Given the description of an element on the screen output the (x, y) to click on. 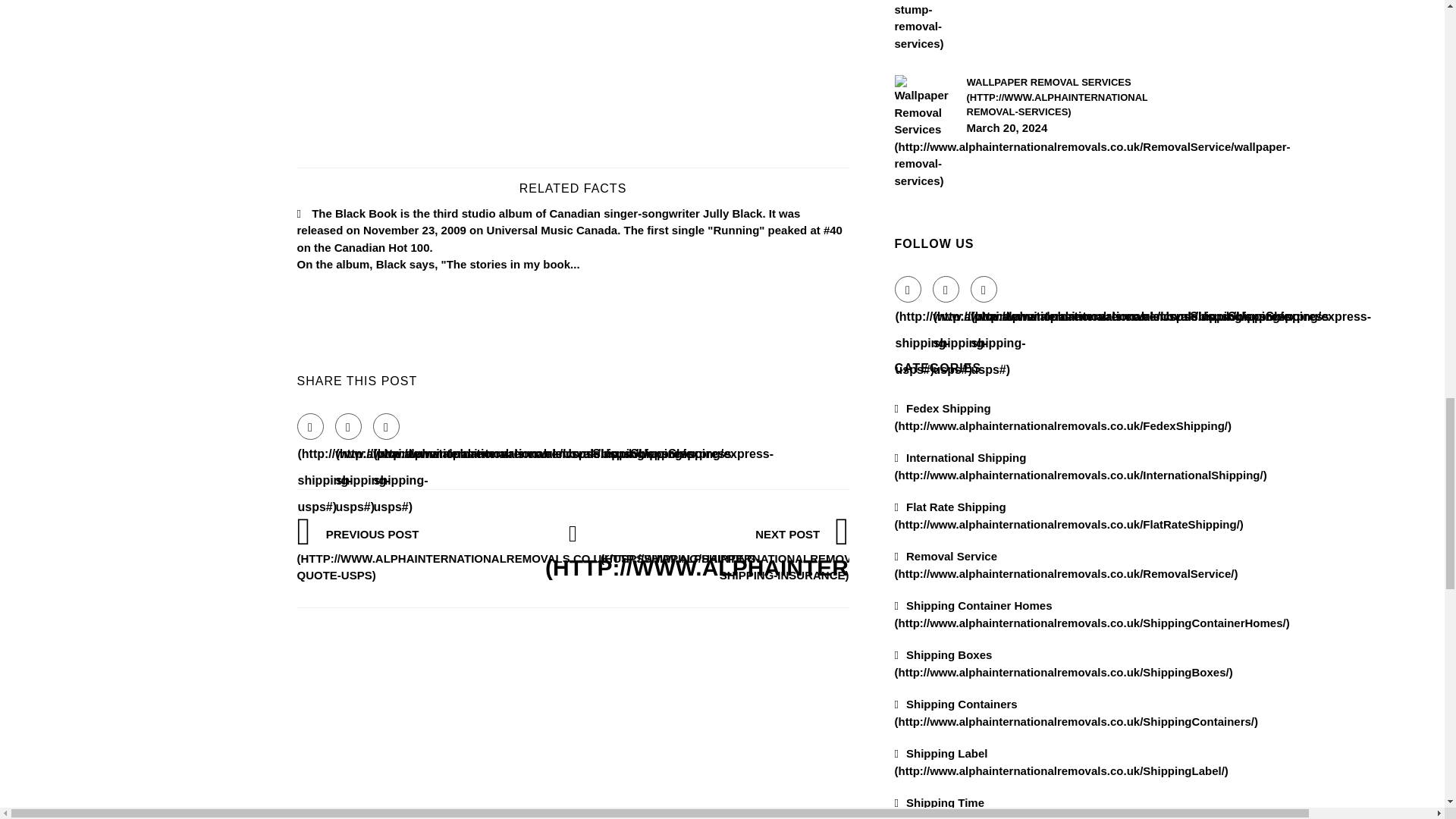
Twitter (946, 479)
TREE STUMP REMOVAL SERVICES (1056, 176)
View all posts filed under Shipping Container Homes (1092, 803)
View all posts filed under International Shipping (1080, 656)
Advertisement (573, 419)
View all posts filed under Flat Rate Shipping (1069, 705)
View all posts filed under Removal Service (1067, 755)
Google Plus (984, 479)
LIVING IN A SHIPPING CONTAINER (1056, 43)
Facebook (908, 479)
